Given the description of an element on the screen output the (x, y) to click on. 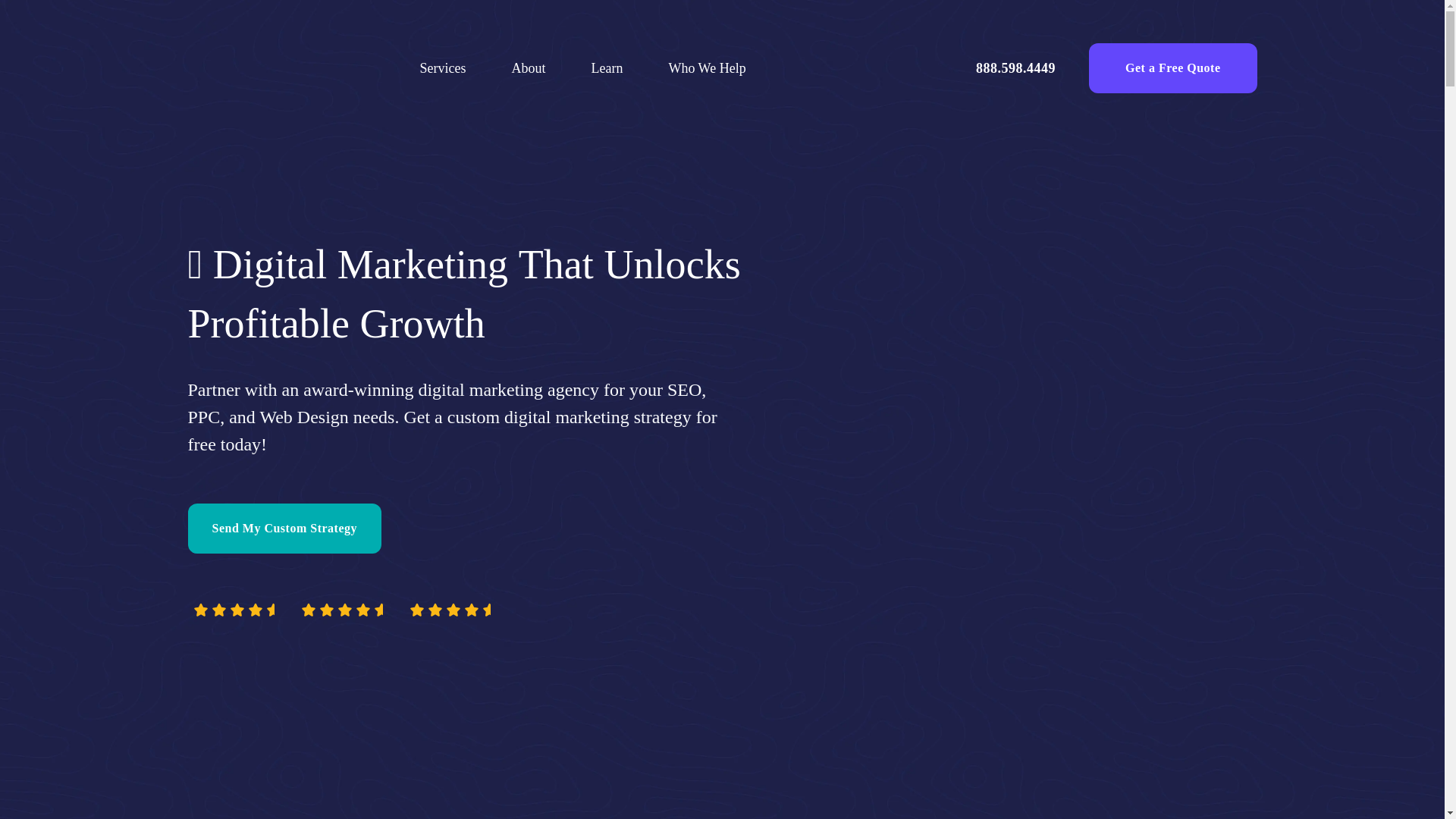
Learn (607, 67)
About (527, 67)
Services (442, 67)
